Given the description of an element on the screen output the (x, y) to click on. 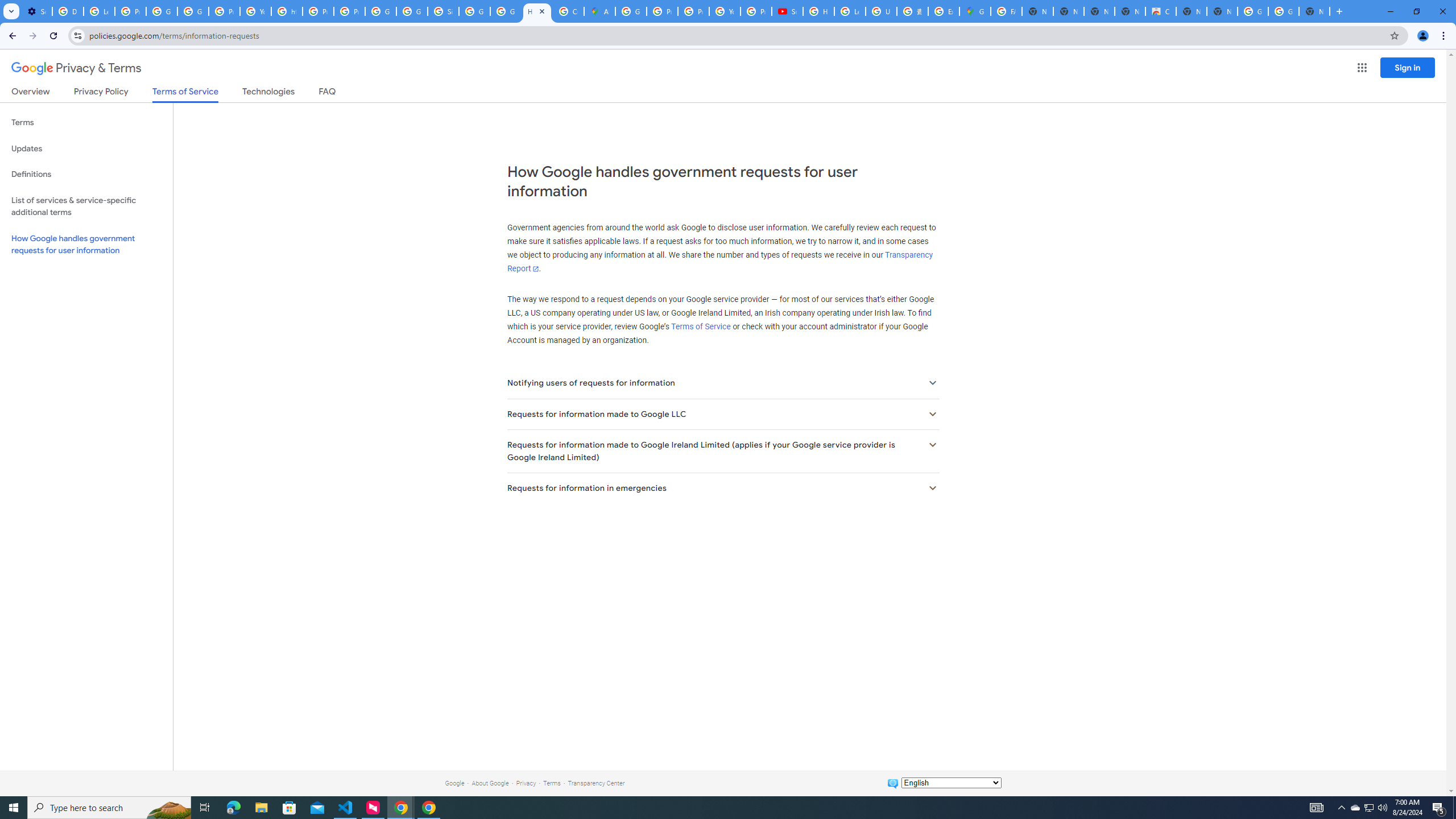
Settings - On startup (36, 11)
Privacy Help Center - Policies Help (662, 11)
Requests for information in emergencies (722, 488)
Google Images (1283, 11)
How Chrome protects your passwords - Google Chrome Help (818, 11)
YouTube (255, 11)
Notifying users of requests for information (722, 382)
